Given the description of an element on the screen output the (x, y) to click on. 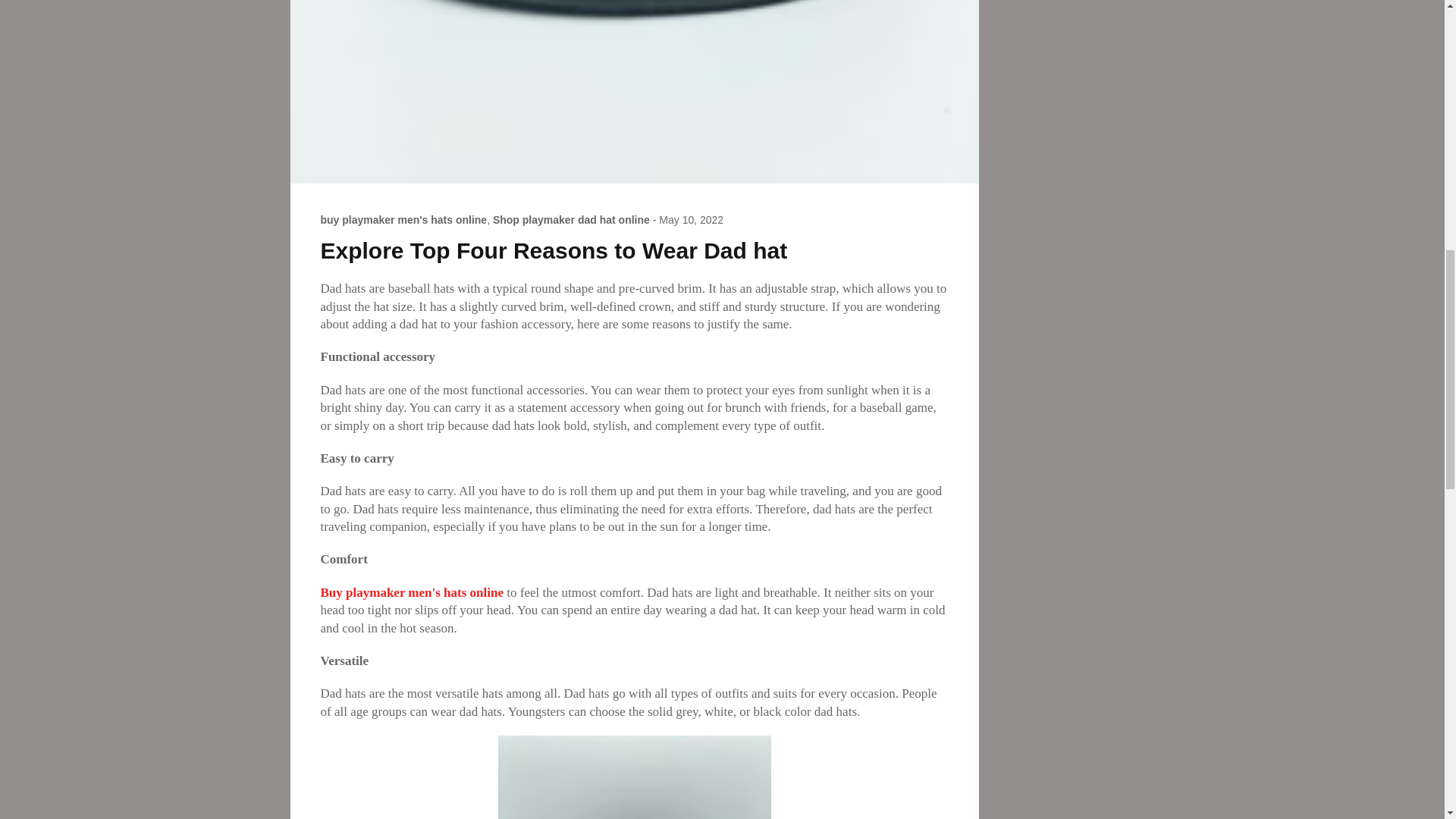
buy playmaker men's hats online (403, 219)
Buy playmaker men's hats online (413, 592)
Shop playmaker dad hat online (571, 219)
